Given the description of an element on the screen output the (x, y) to click on. 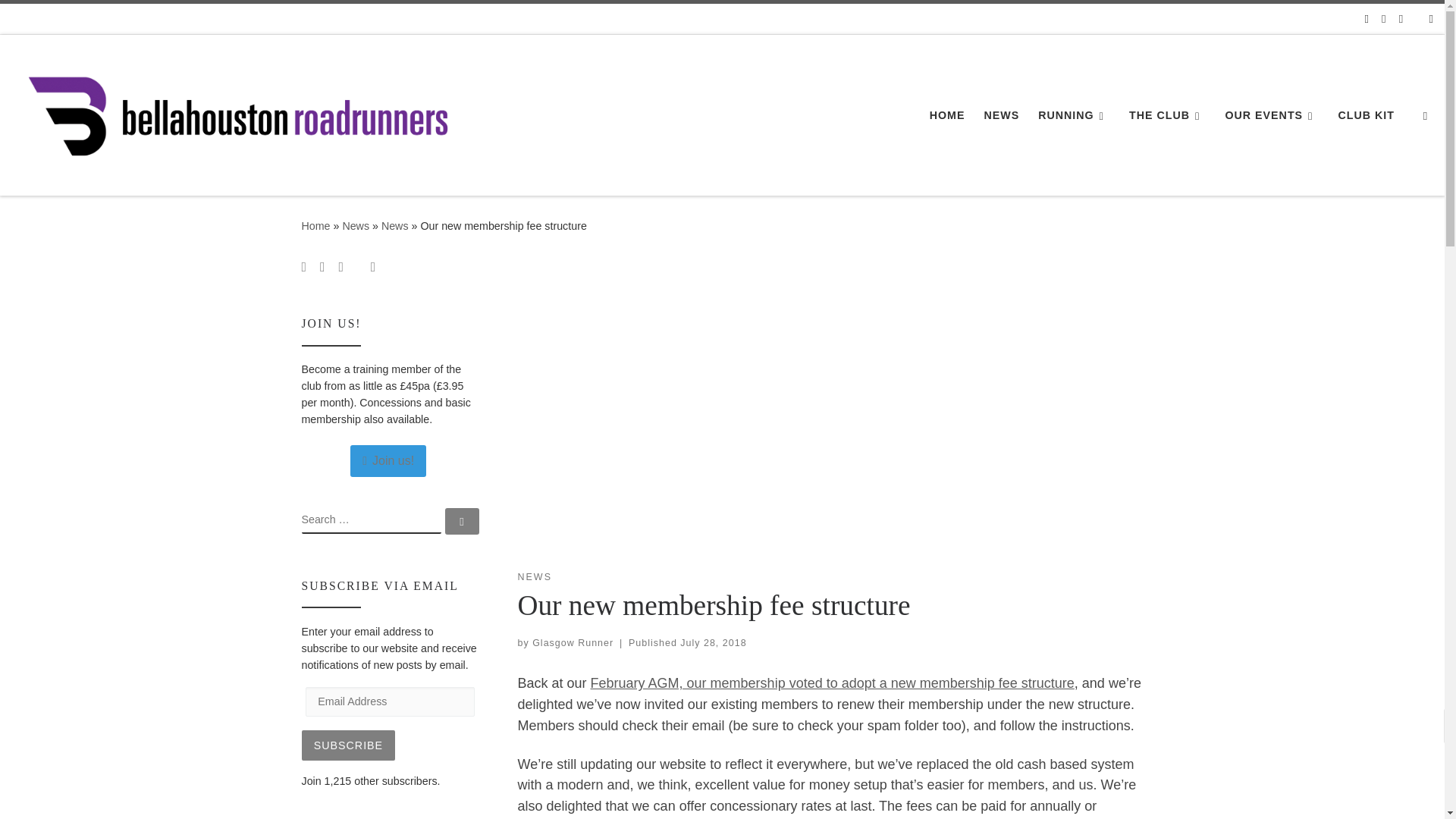
12:17 pm (712, 643)
THE CLUB (1167, 115)
View all posts in News (533, 577)
View all posts by Glasgow Runner (572, 643)
OUR EVENTS (1271, 115)
NEWS (1000, 115)
RUNNING (1074, 115)
News (355, 225)
Bellahouston Road Runners (315, 225)
CLUB KIT (1366, 115)
HOME (946, 115)
News (395, 225)
Skip to content (60, 20)
